Given the description of an element on the screen output the (x, y) to click on. 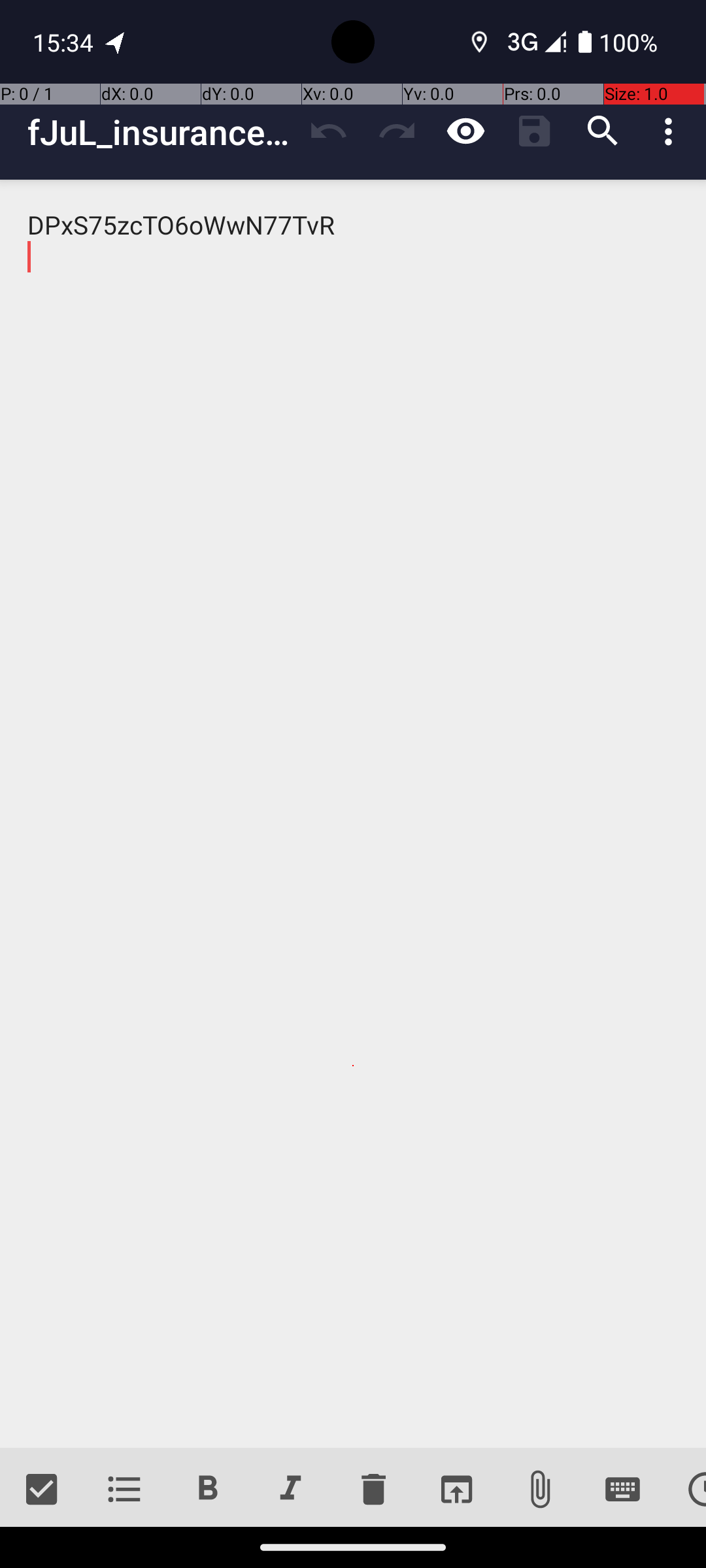
fJuL_insurance_plan_comparison Element type: android.widget.TextView (160, 131)
DPxS75zcTO6oWwN77TvR
 Element type: android.widget.EditText (353, 813)
